Given the description of an element on the screen output the (x, y) to click on. 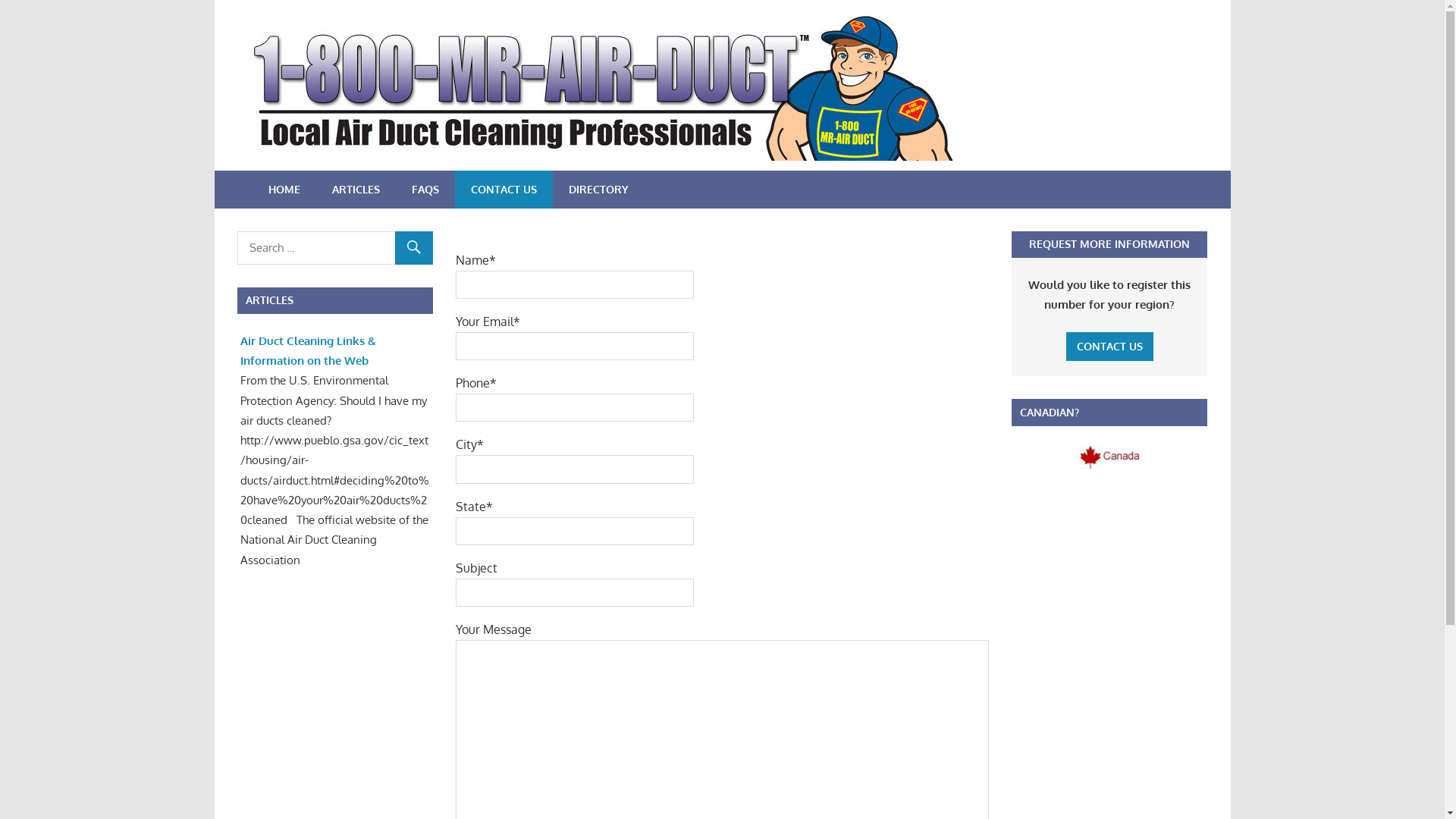
Search for: Element type: hover (334, 247)
CONTACT US Element type: text (1109, 345)
ARTICLES Element type: text (355, 189)
CONTACT US Element type: text (1109, 346)
HOME Element type: text (283, 189)
FAQS Element type: text (425, 189)
CONTACT US Element type: text (503, 189)
Air Duct Cleaning Links & Information on the Web Element type: text (308, 350)
DIRECTORY Element type: text (597, 189)
